Given the description of an element on the screen output the (x, y) to click on. 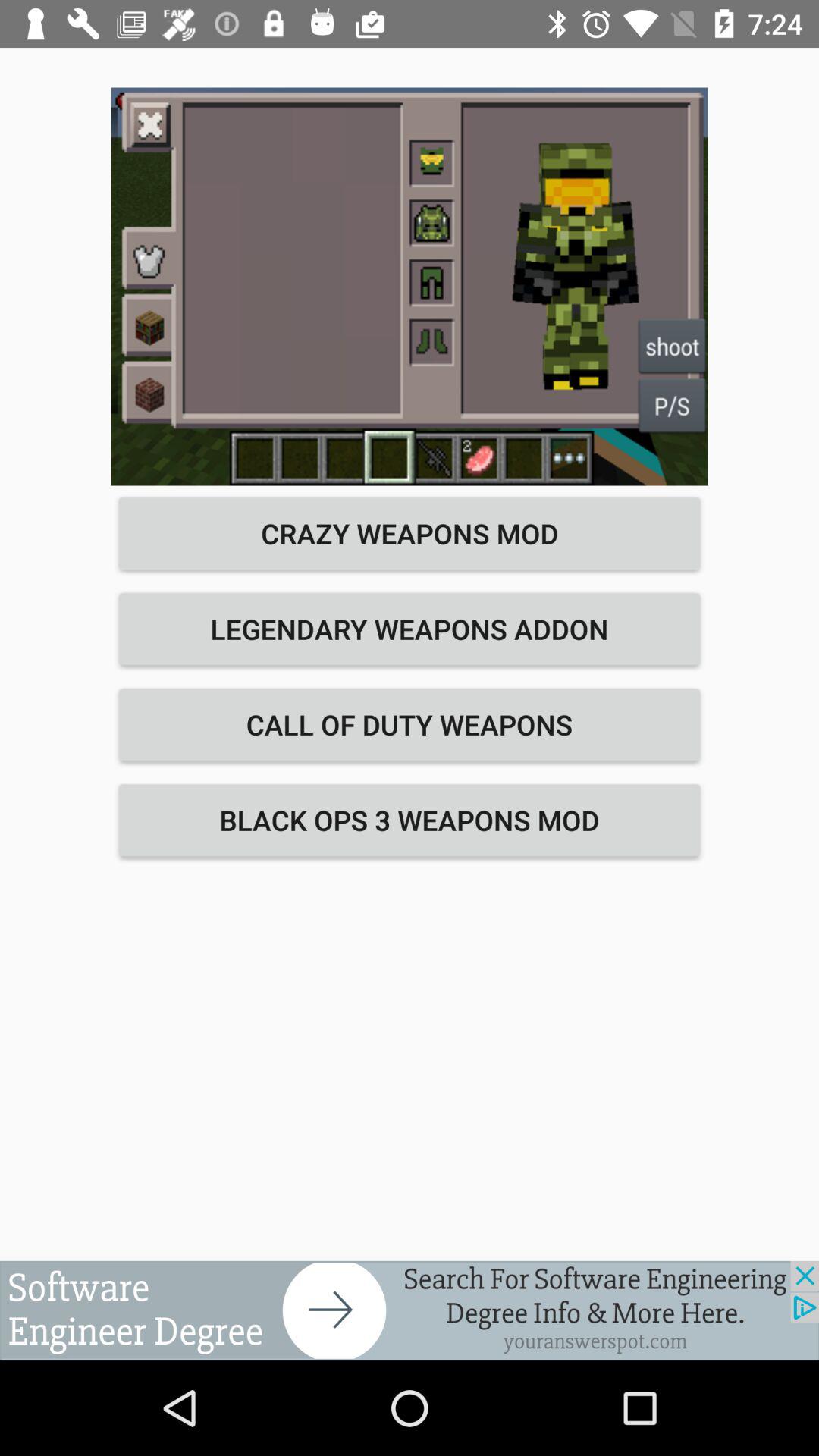
go to this site (409, 1310)
